Given the description of an element on the screen output the (x, y) to click on. 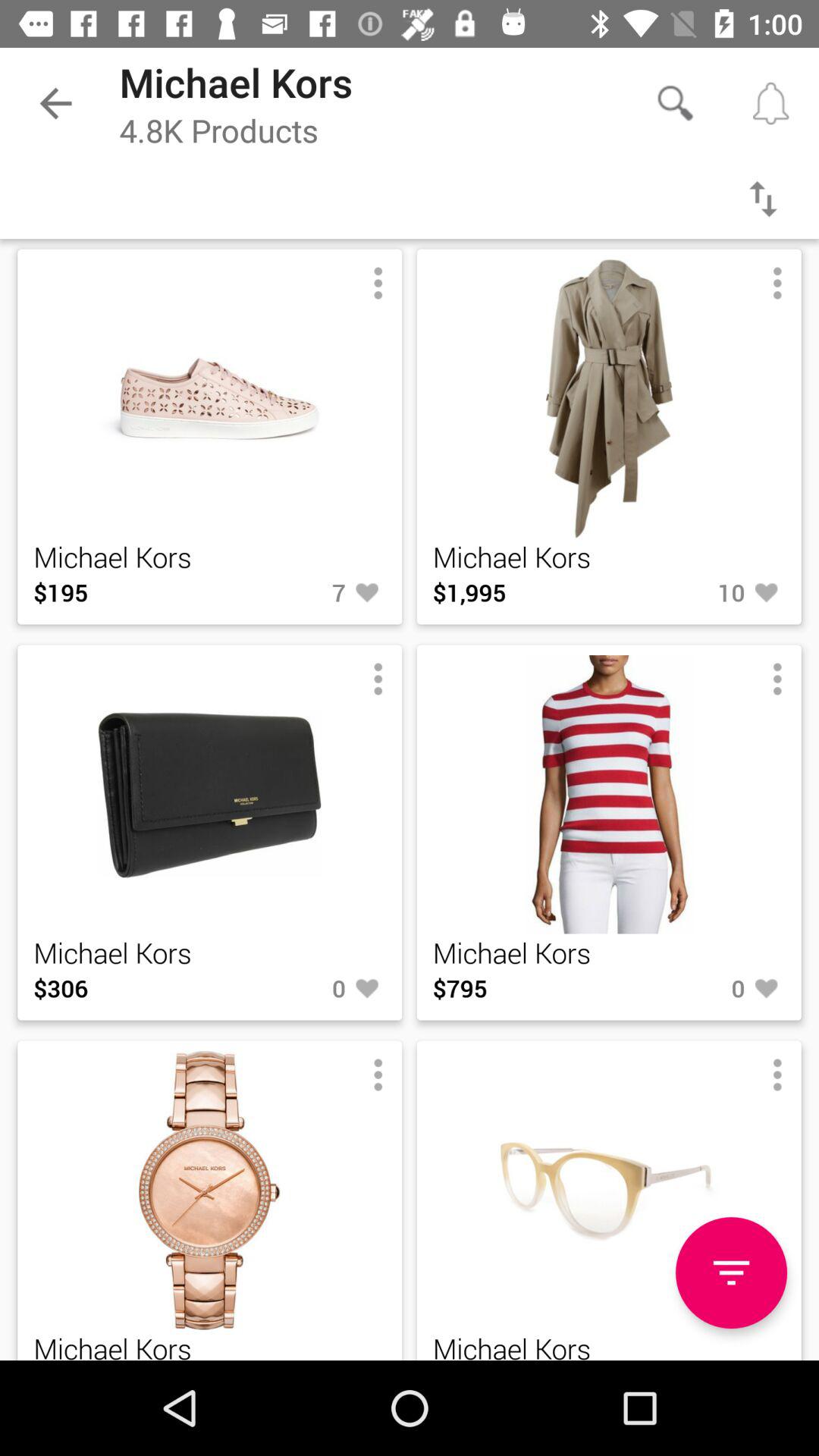
select item above the michael kors (731, 1272)
